Given the description of an element on the screen output the (x, y) to click on. 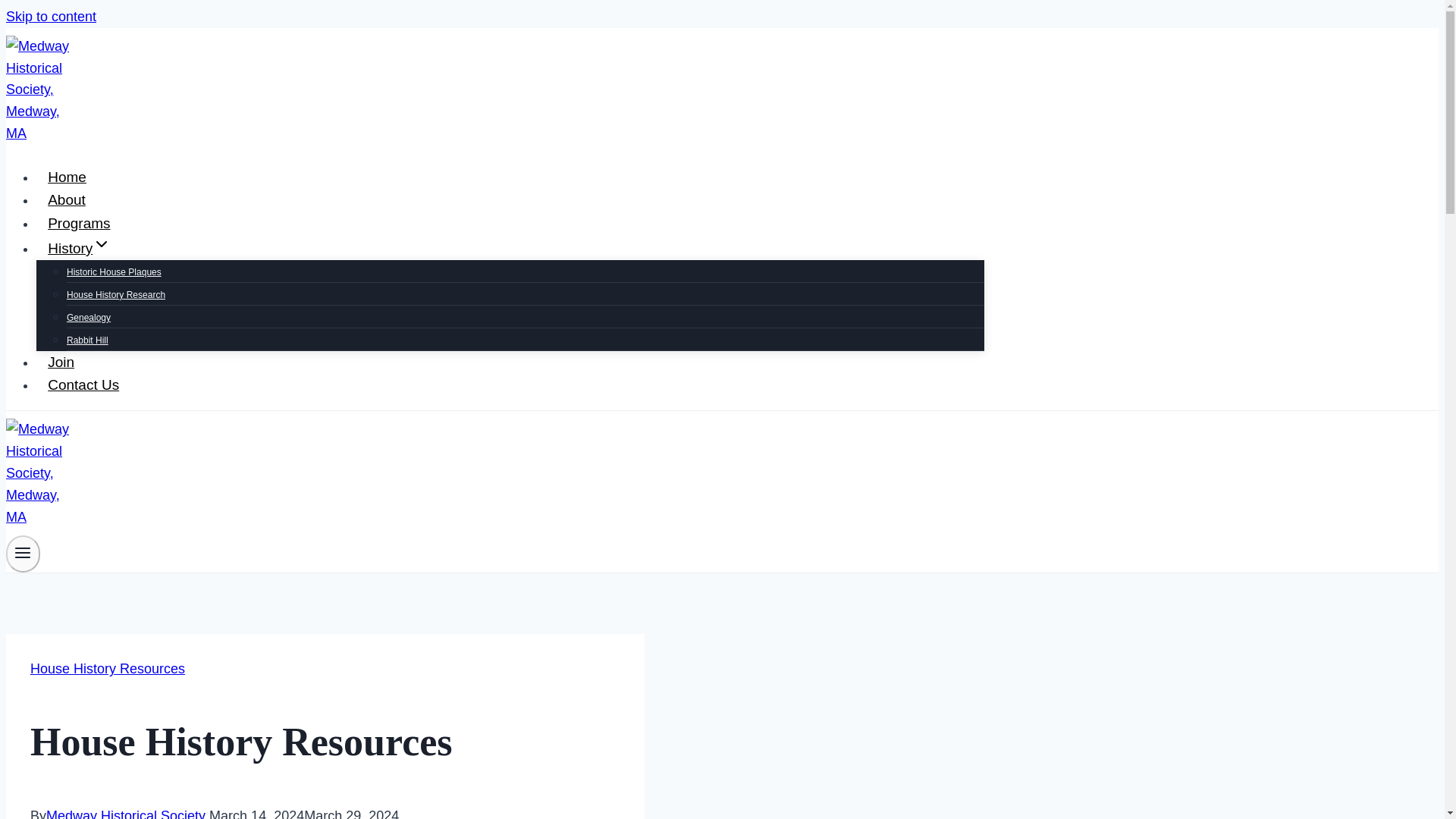
Historic House Plaques (113, 271)
HistoryExpand (79, 248)
Genealogy (88, 317)
TOGGLE MENU (22, 553)
House History Research (115, 294)
Contact Us (83, 384)
About (66, 199)
Programs (79, 222)
Medway Historical Society (125, 813)
Expand (101, 244)
Skip to content (50, 16)
House History Resources (107, 668)
Rabbit Hill (86, 339)
TOGGLE MENU (22, 552)
Skip to content (50, 16)
